Given the description of an element on the screen output the (x, y) to click on. 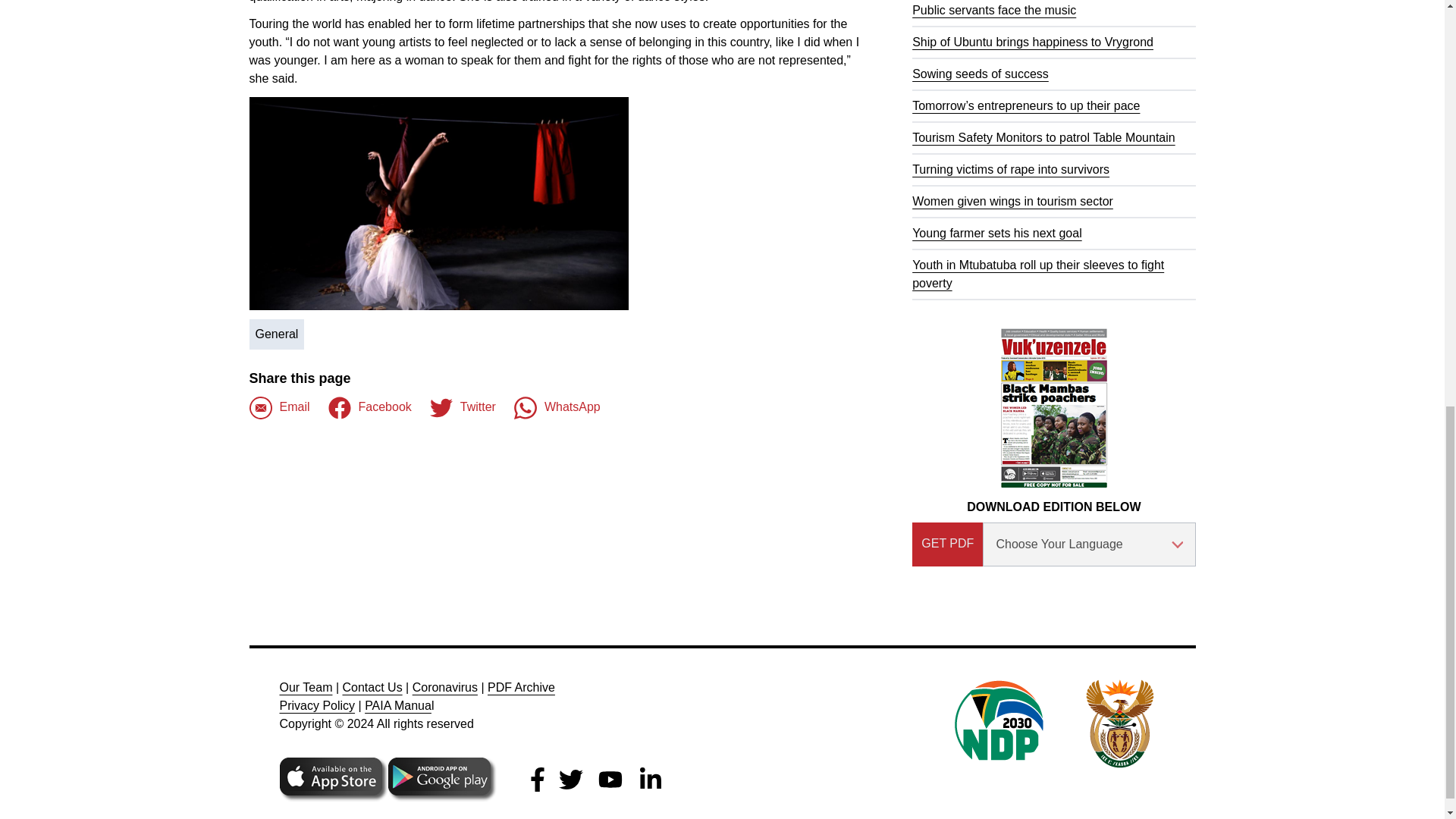
Facebook (370, 407)
Choose Your Language (1088, 544)
Email (278, 407)
Share on Facebook (278, 407)
Share on Facebook (370, 407)
Share on Twitter (462, 407)
General (276, 334)
